Given the description of an element on the screen output the (x, y) to click on. 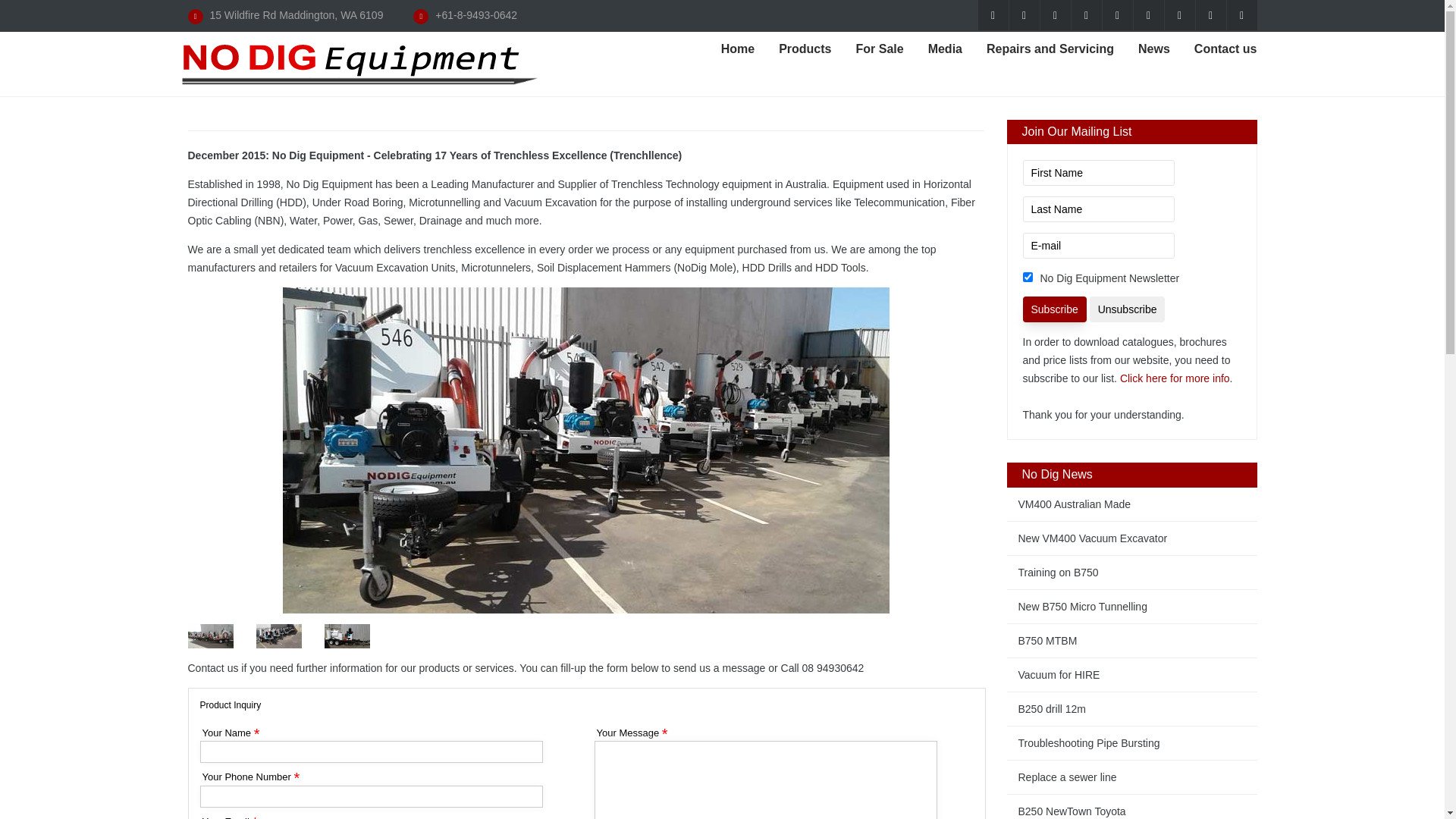
Click here for more info Element type: text (1175, 378)
Media Element type: text (945, 49)
Contact us Element type: text (1225, 49)
Products Element type: text (804, 49)
VM400 Australian Made Element type: text (1132, 503)
Unsubscribe Element type: text (1127, 309)
New B750 Micro Tunnelling Element type: text (1132, 606)
Home Element type: text (737, 49)
For Sale Element type: text (879, 49)
Last Name Element type: hover (1097, 209)
News Element type: text (1154, 49)
B250 drill 12m Element type: text (1132, 708)
Repairs and Servicing Element type: text (1049, 49)
First Name Element type: hover (1097, 172)
Training on B750 Element type: text (1132, 572)
New VM400 Vacuum Excavator Element type: text (1132, 538)
Replace a sewer line Element type: text (1132, 776)
Subscribe Element type: text (1053, 309)
E-mail Element type: hover (1097, 245)
B750 MTBM Element type: text (1132, 640)
Troubleshooting Pipe Bursting Element type: text (1132, 742)
Vacuum for HIRE Element type: text (1132, 674)
